Given the description of an element on the screen output the (x, y) to click on. 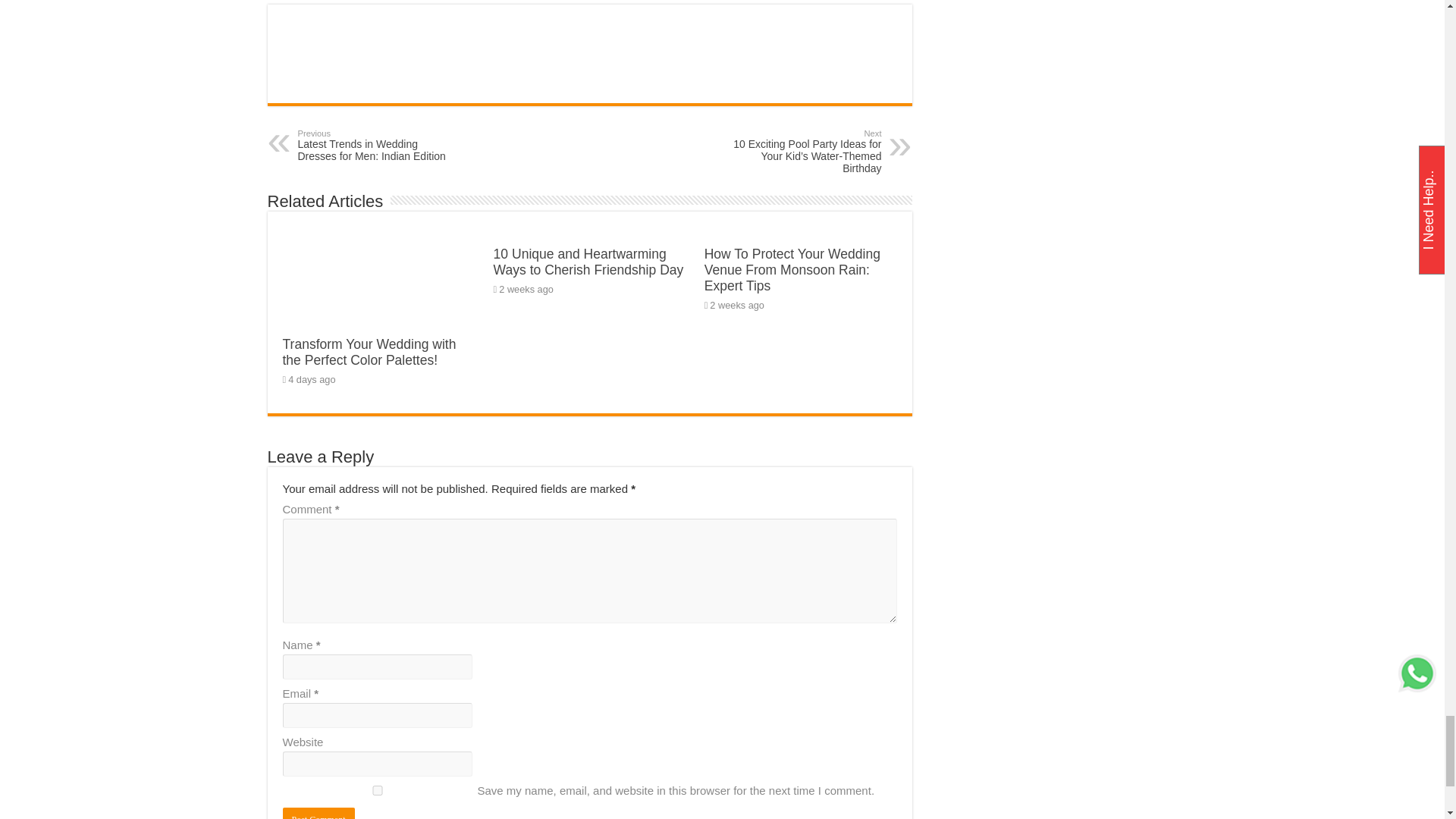
Post Comment (317, 813)
yes (376, 790)
